Given the description of an element on the screen output the (x, y) to click on. 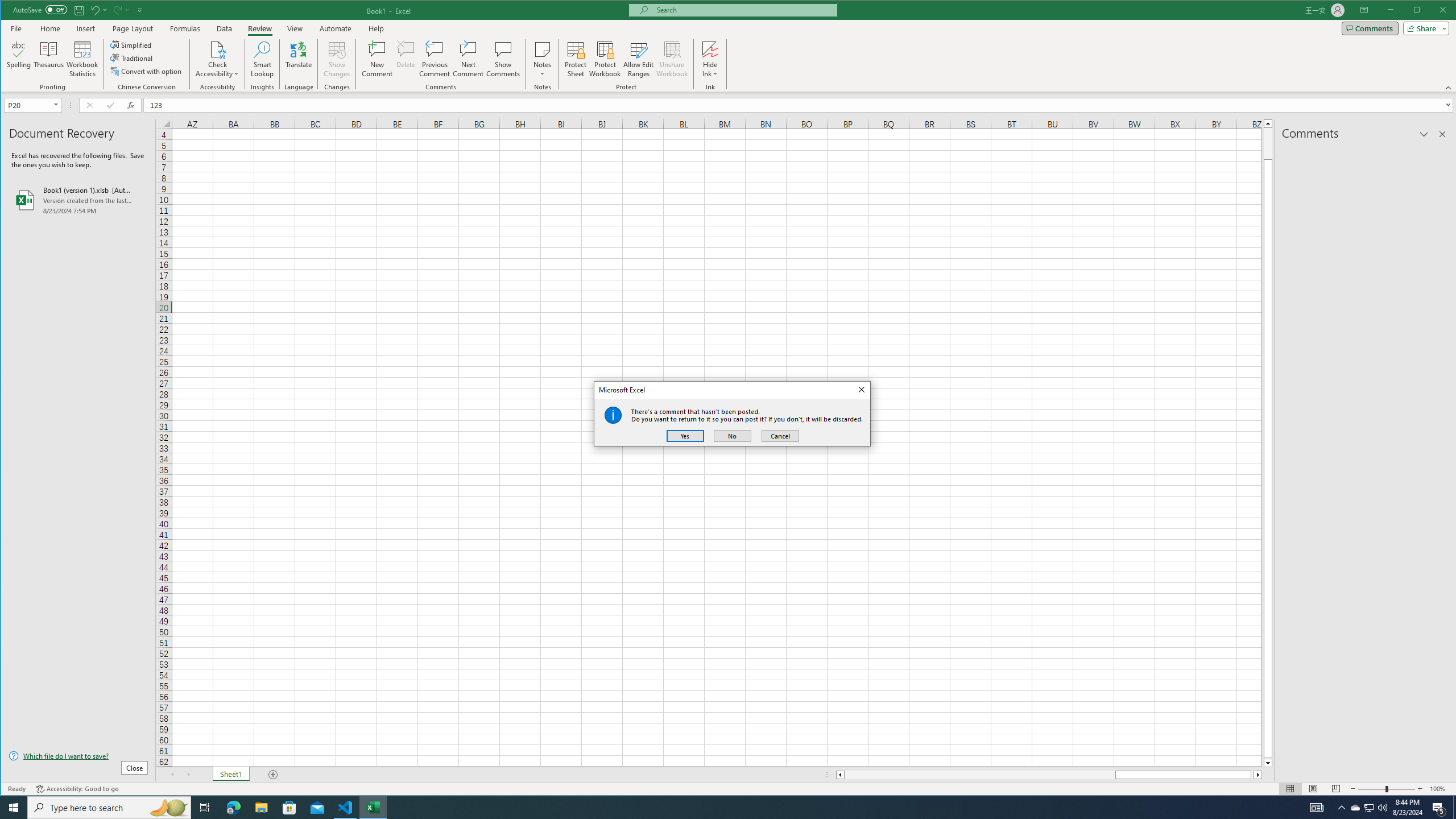
Search highlights icon opens search home window (167, 807)
Microsoft Store (289, 807)
Thesaurus... (1368, 807)
Check Accessibility (48, 59)
Microsoft search (217, 59)
Close pane (742, 10)
